Given the description of an element on the screen output the (x, y) to click on. 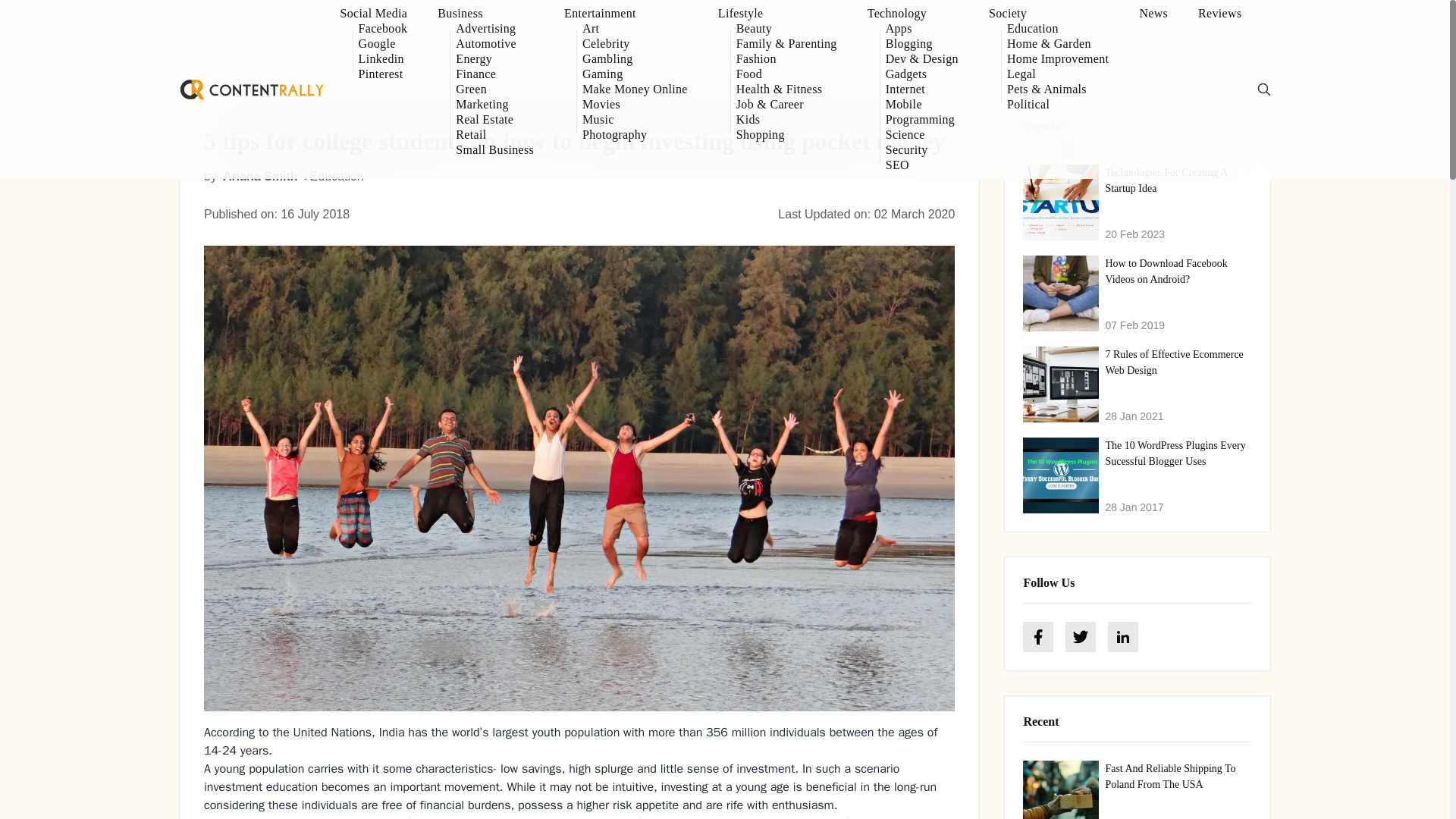
Advertising (494, 28)
Fashion (786, 58)
Retail (494, 134)
Marketing (494, 104)
Gadgets (921, 73)
Business (486, 13)
Apps (921, 28)
Kids (786, 119)
Energy (494, 58)
Linkedin (382, 58)
